Given the description of an element on the screen output the (x, y) to click on. 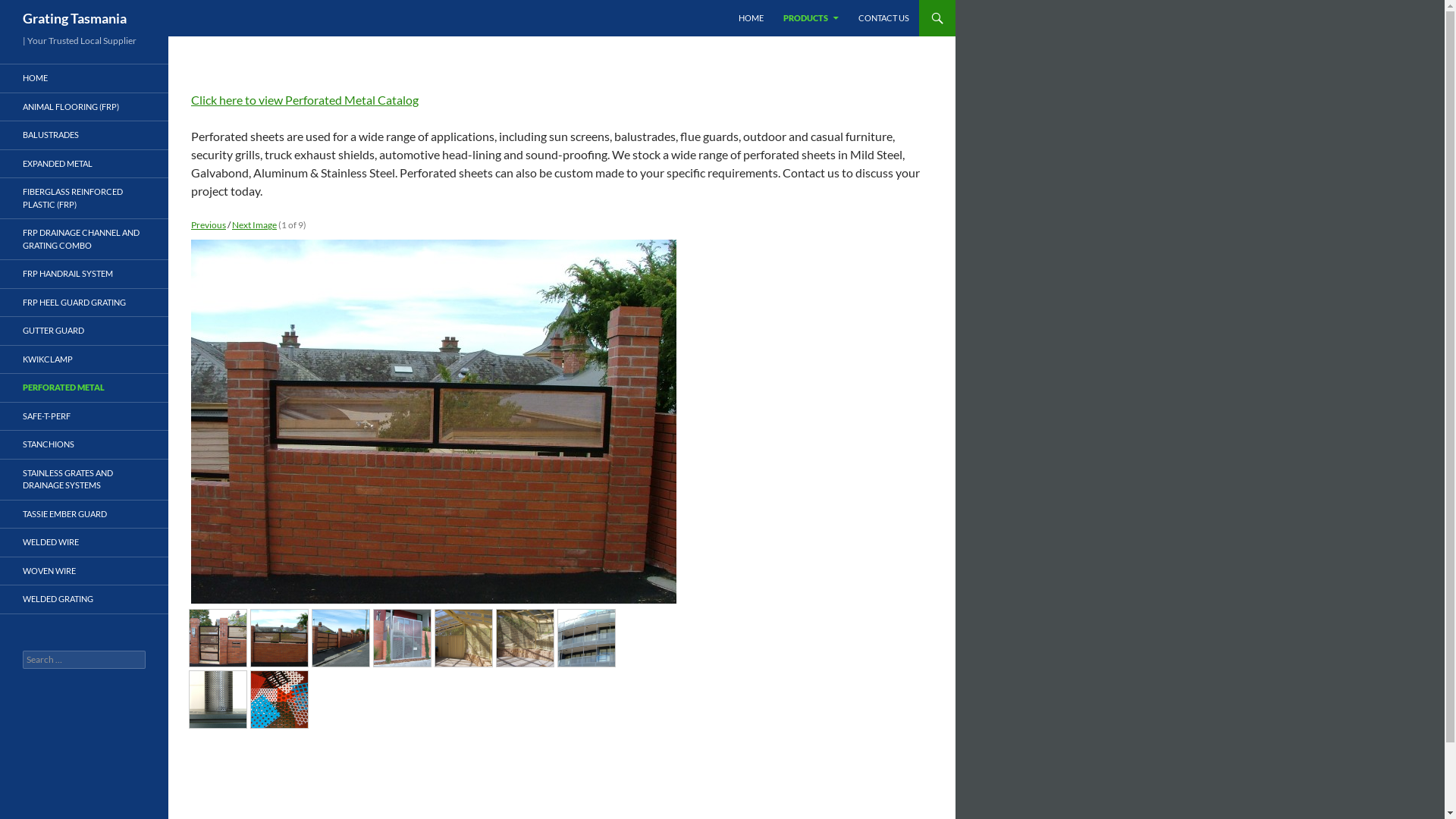
FRP HANDRAIL SYSTEM Element type: text (84, 274)
PRODUCTS Element type: text (810, 18)
Click here to view Perforated Metal Catalog Element type: text (304, 99)
BALUSTRADES Element type: text (84, 135)
WOVEN WIRE Element type: text (84, 570)
WELDED WIRE Element type: text (84, 542)
STAINLESS GRATES AND DRAINAGE SYSTEMS Element type: text (84, 479)
Next Image Element type: text (254, 224)
PERFORATED METAL Element type: text (84, 387)
KWIKCLAMP Element type: text (84, 359)
Grating Tasmania Element type: text (74, 17)
HOME Element type: text (84, 78)
EXPANDED METAL Element type: text (84, 164)
GUTTER GUARD Element type: text (84, 330)
SKIP TO CONTENT Element type: text (773, 6)
Search Element type: text (29, 9)
FIBERGLASS REINFORCED PLASTIC (FRP) Element type: text (84, 198)
CONTACT US Element type: text (883, 18)
FRP HEEL GUARD GRATING Element type: text (84, 302)
Search Element type: text (20, 9)
SAFE-T-PERF Element type: text (84, 415)
Previous Element type: text (208, 224)
Search for: Element type: hover (83, 659)
WELDED GRATING Element type: text (84, 599)
HOME Element type: text (750, 18)
STANCHIONS Element type: text (84, 444)
ANIMAL FLOORING (FRP) Element type: text (84, 106)
FRP DRAINAGE CHANNEL AND GRATING COMBO Element type: text (84, 239)
TASSIE EMBER GUARD Element type: text (84, 514)
